Given the description of an element on the screen output the (x, y) to click on. 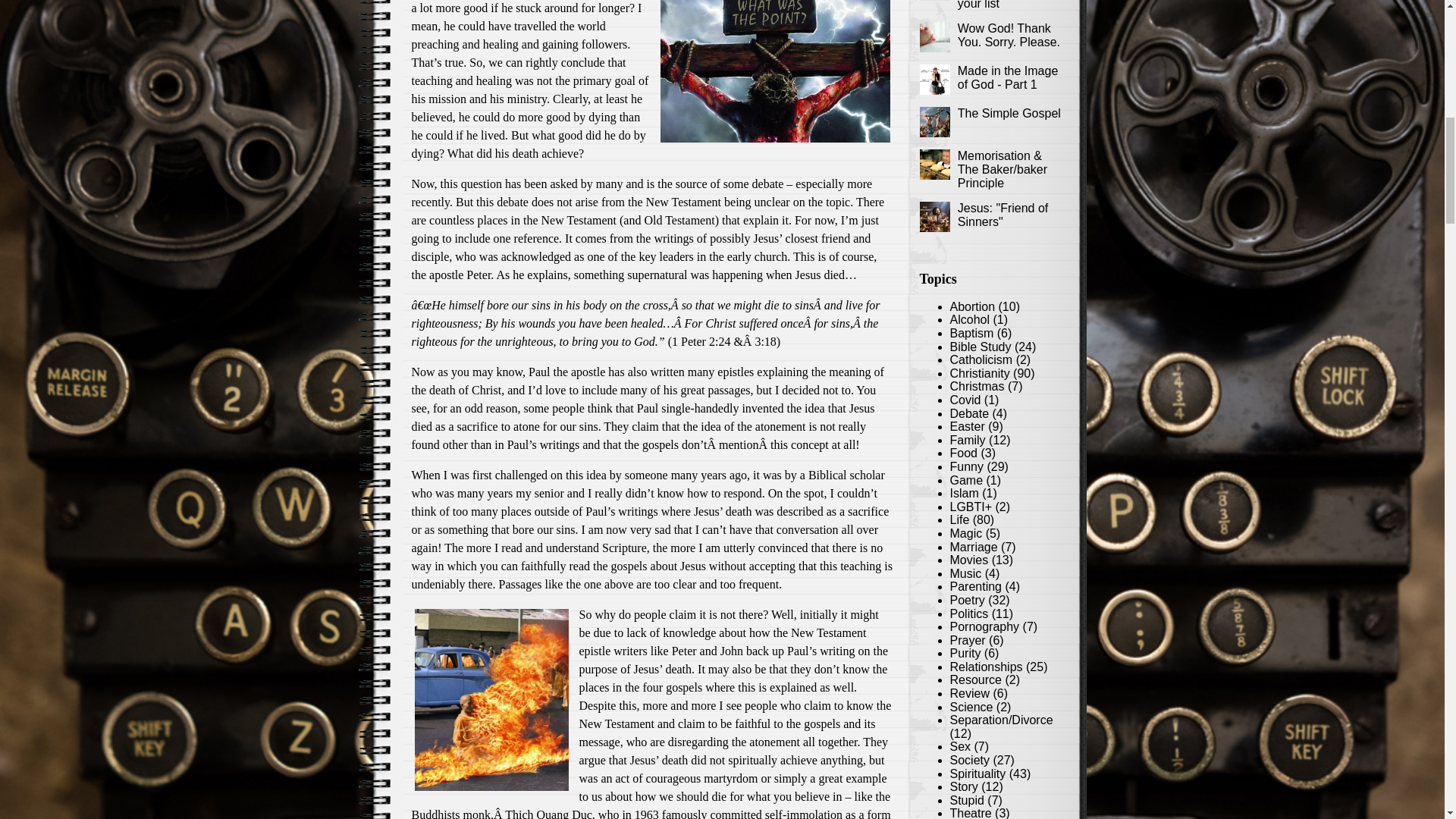
Wow God! Thank You. Sorry. Please. (1008, 35)
Wow God! Thank You. Sorry. Please. (1008, 35)
self-immolation (804, 813)
